Given the description of an element on the screen output the (x, y) to click on. 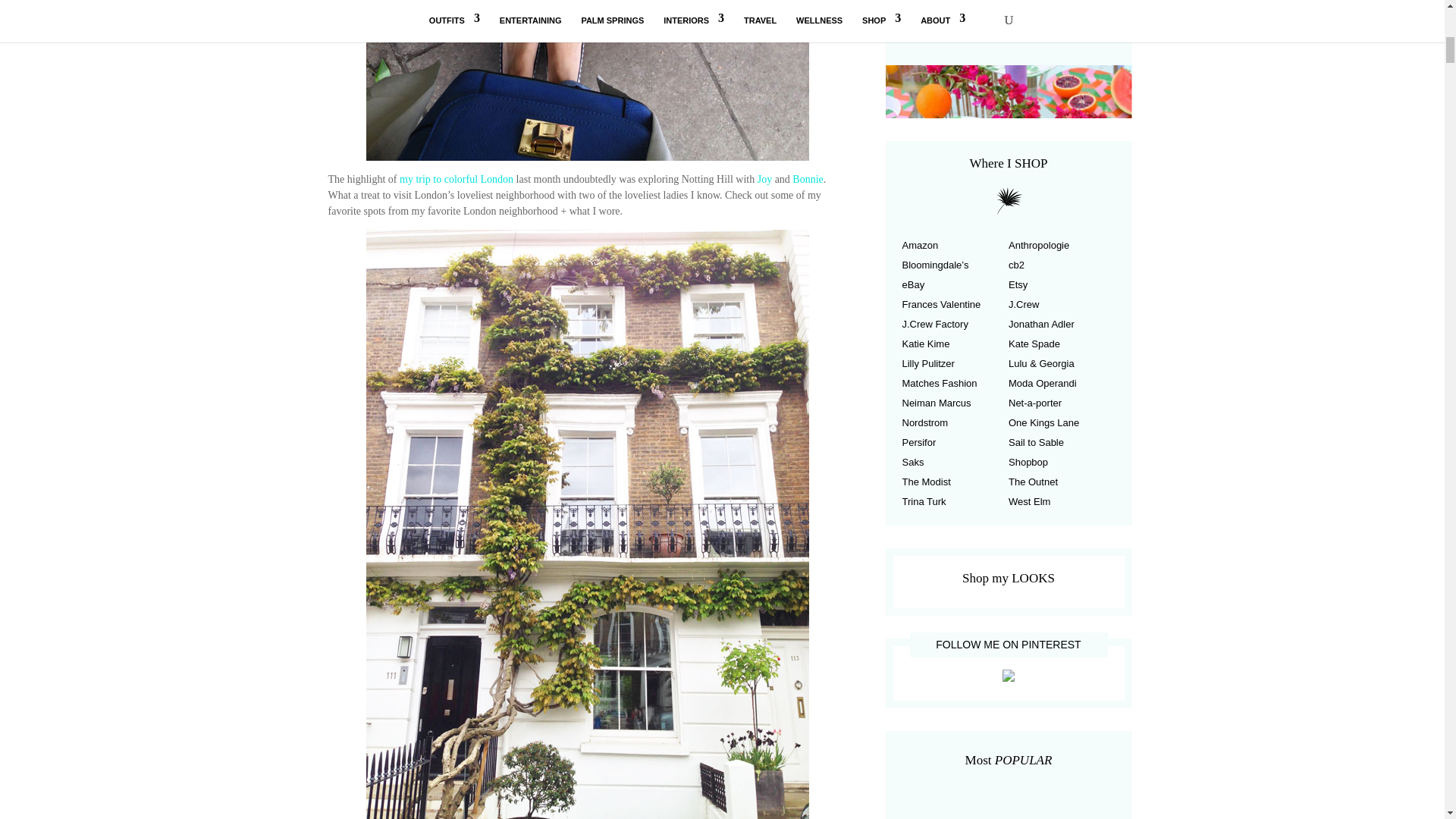
my trip to colorful London (455, 179)
Bonnie (807, 179)
Joy (764, 179)
